Given the description of an element on the screen output the (x, y) to click on. 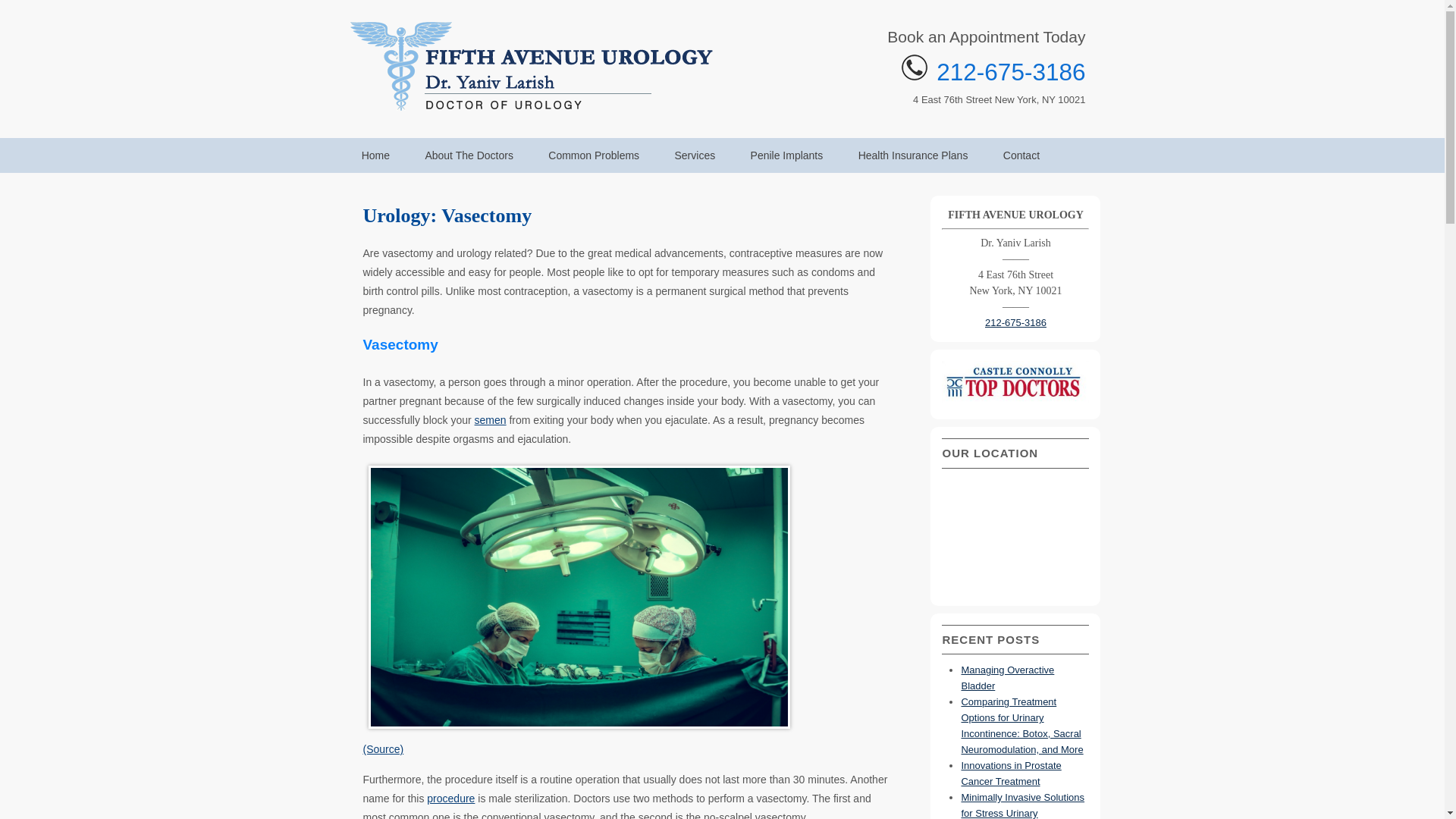
Managing Overactive Bladder (1007, 677)
Common Problems (593, 153)
Penile Implants (785, 153)
212-675-3186 (1015, 322)
Home (375, 153)
About The Doctors (468, 153)
procedure (450, 798)
Services (695, 153)
semen (490, 419)
Contact (1022, 153)
Innovations in Prostate Cancer Treatment (1010, 773)
Health Insurance Plans (912, 153)
212-675-3186 (1010, 71)
